Given the description of an element on the screen output the (x, y) to click on. 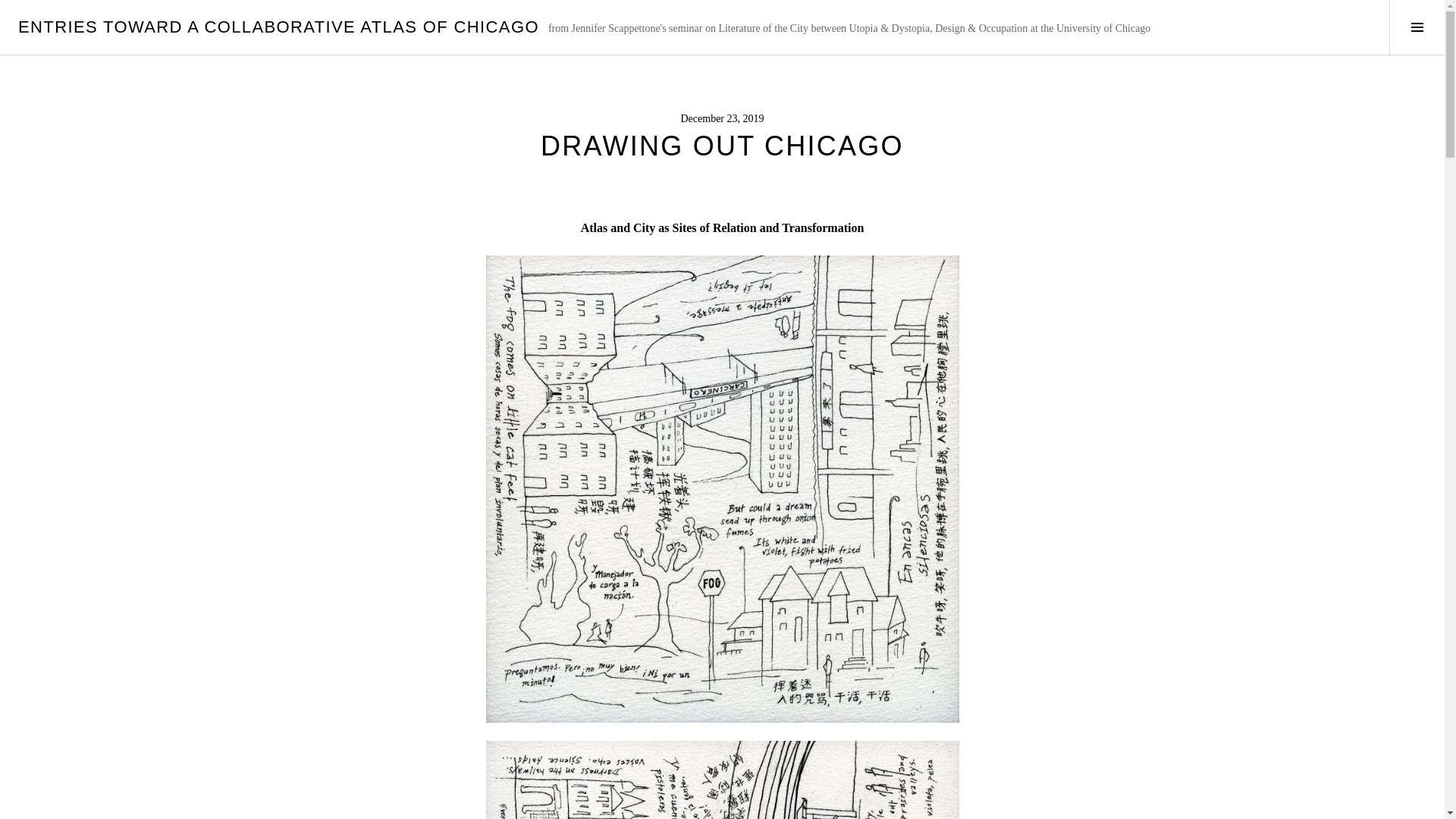
ENTRIES TOWARD A COLLABORATIVE ATLAS OF CHICAGO (277, 26)
